Given the description of an element on the screen output the (x, y) to click on. 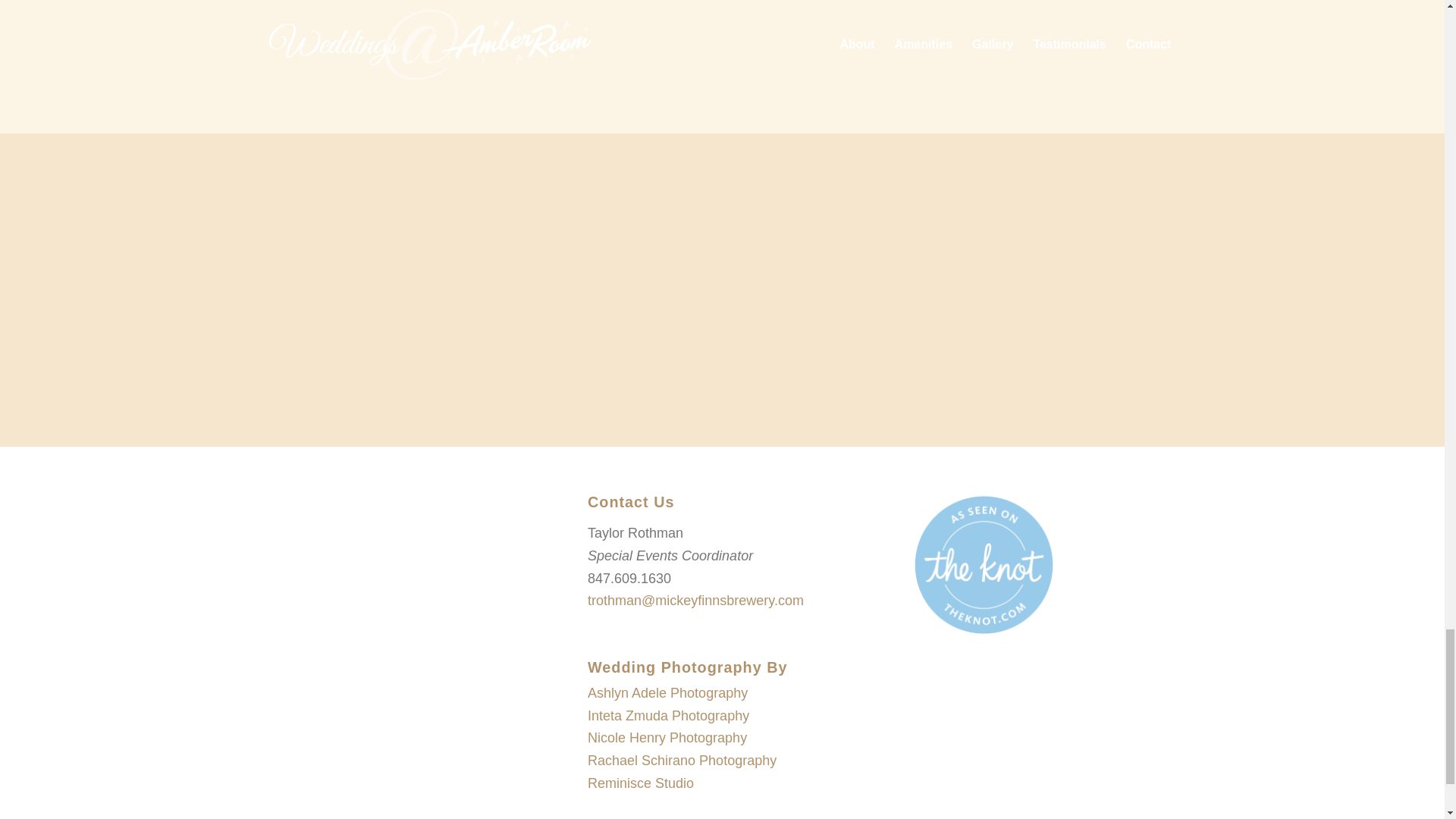
Submit (722, 351)
Rachael Schirano Photography (682, 760)
Ashlyn Adele Photography (668, 693)
Reminisce Studio (641, 783)
Nicole Henry Photography (667, 737)
Inteta Zmuda Photography (668, 715)
